Given the description of an element on the screen output the (x, y) to click on. 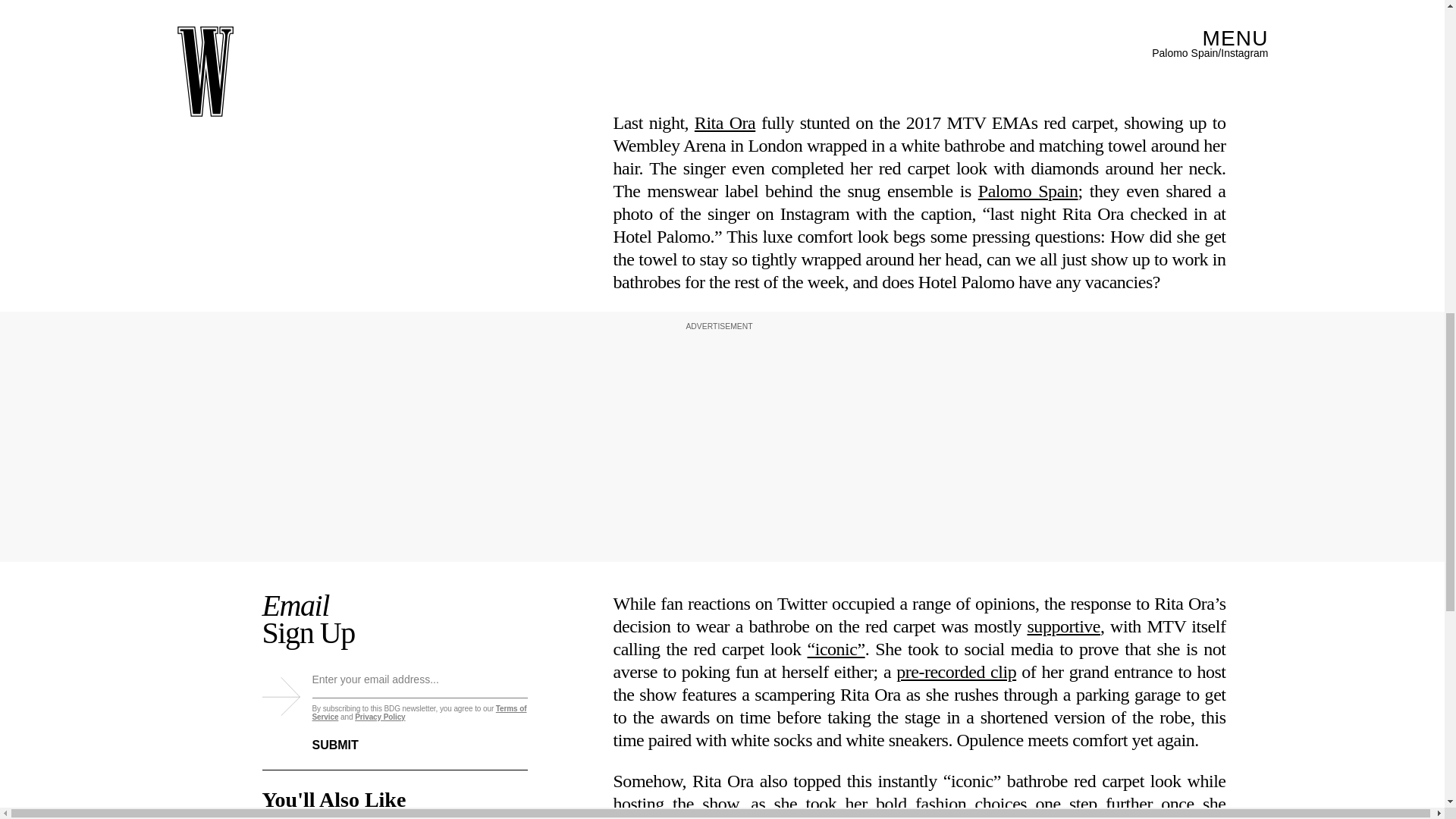
pre-recorded clip (956, 390)
SUBMIT (347, 741)
Privacy Policy (379, 722)
Rita Ora (724, 121)
Oscars (774, 745)
very large gardening tool (918, 556)
Palomo Spain (1028, 189)
oversized checkered suit (1134, 631)
supportive (1063, 344)
